Given the description of an element on the screen output the (x, y) to click on. 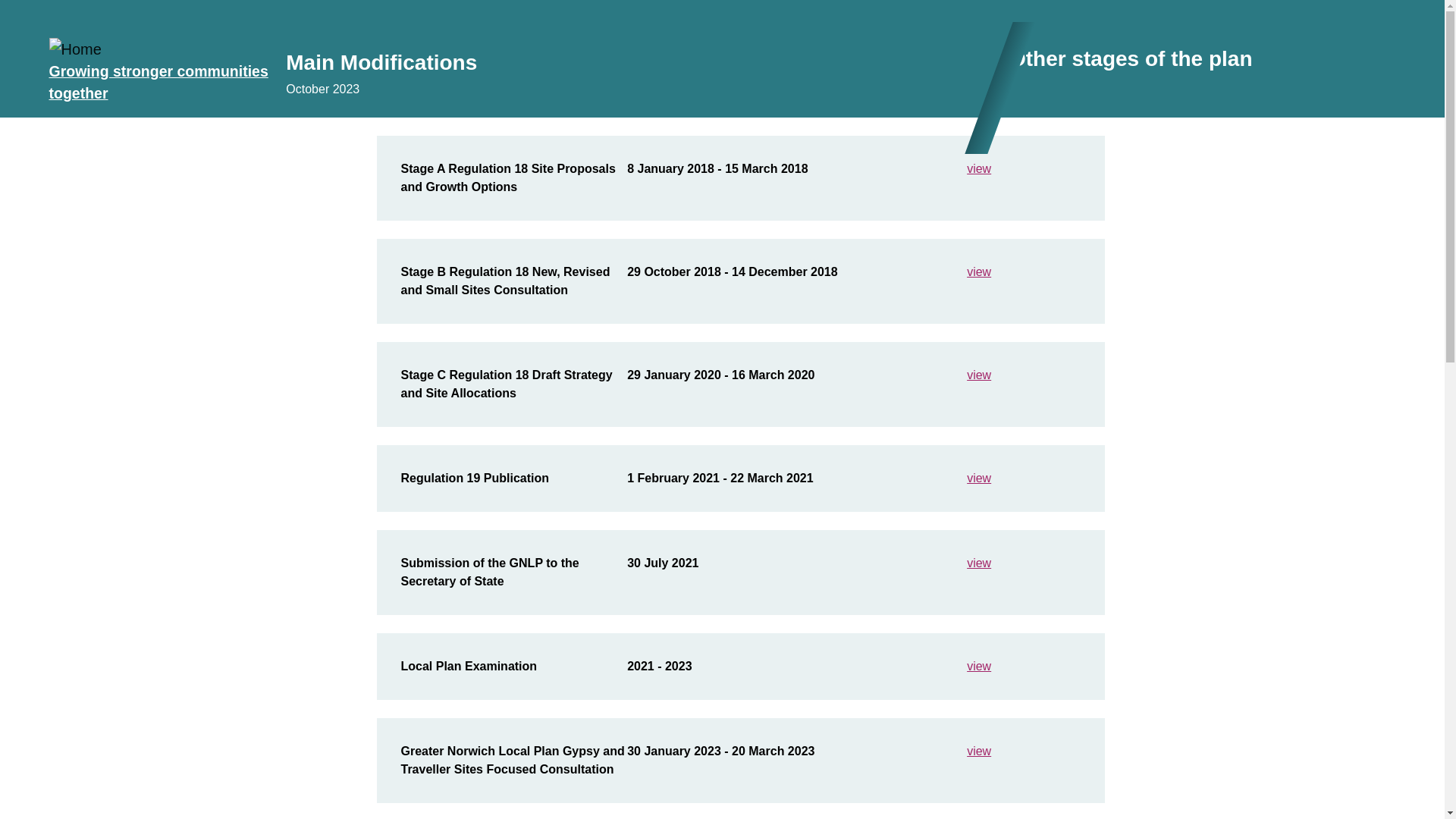
view (978, 374)
Submission of the GNLP to the Secretary of State (489, 572)
view (978, 562)
Stage A Regulation 18 Site Proposals and Growth Options (507, 177)
view (978, 666)
view (978, 168)
Regulation 19 Publication (474, 477)
view (978, 477)
